Given the description of an element on the screen output the (x, y) to click on. 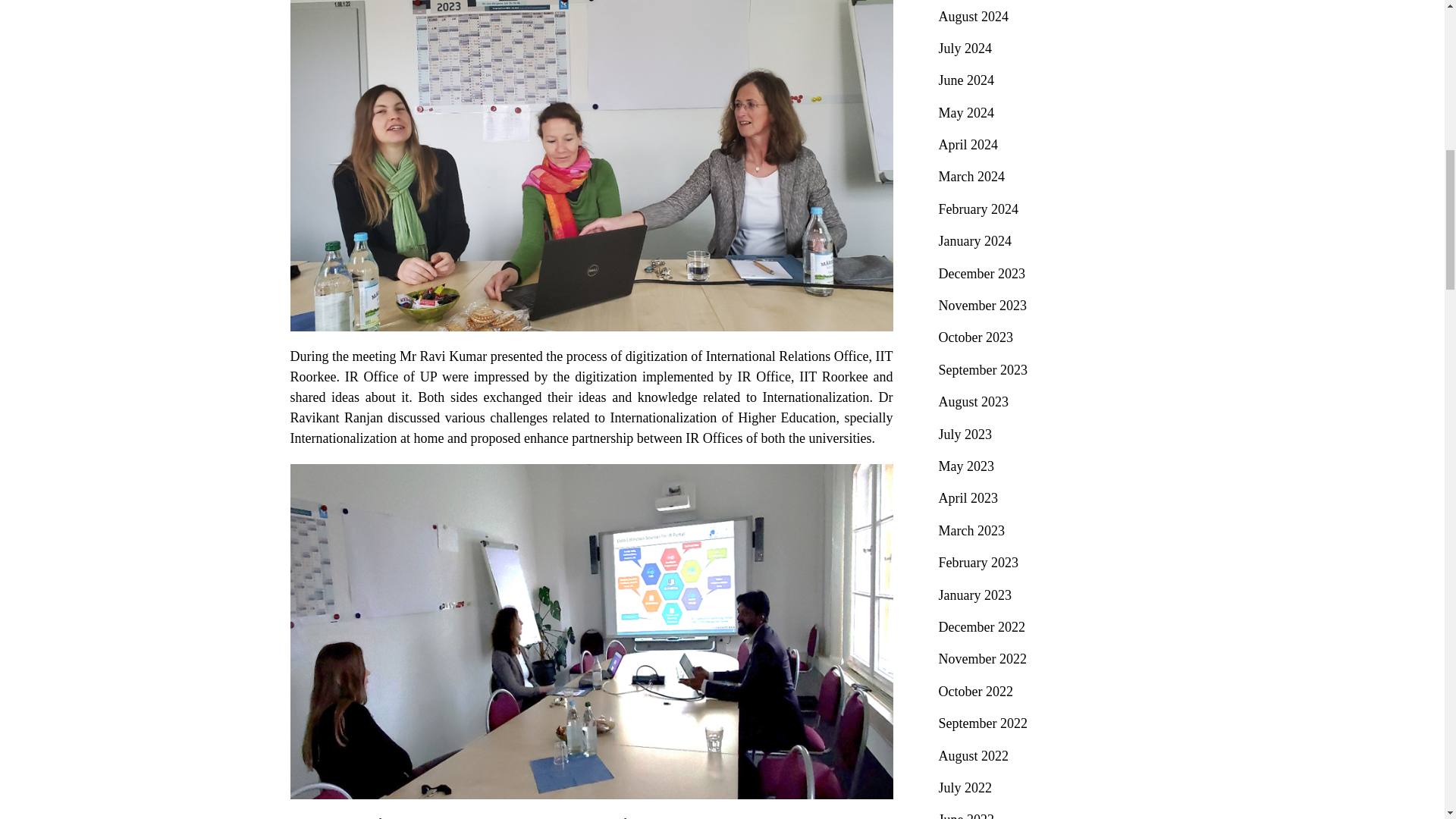
January 2023 (975, 595)
June 2024 (966, 79)
October 2022 (976, 691)
March 2023 (971, 530)
October 2023 (976, 337)
March 2024 (971, 176)
August 2024 (974, 16)
December 2023 (982, 273)
May 2023 (966, 466)
February 2024 (978, 209)
